Given the description of an element on the screen output the (x, y) to click on. 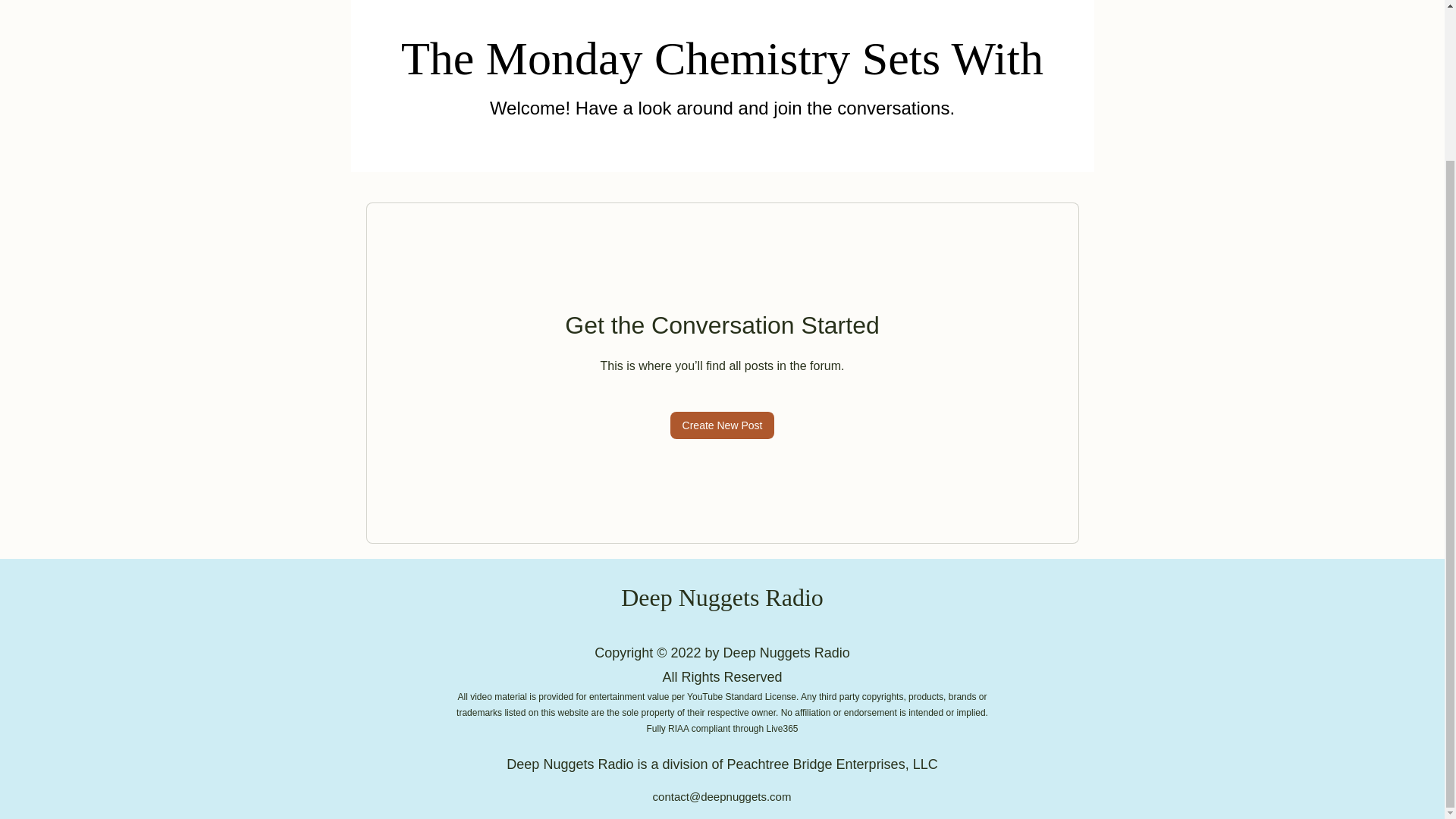
Create New Post (721, 424)
